Given the description of an element on the screen output the (x, y) to click on. 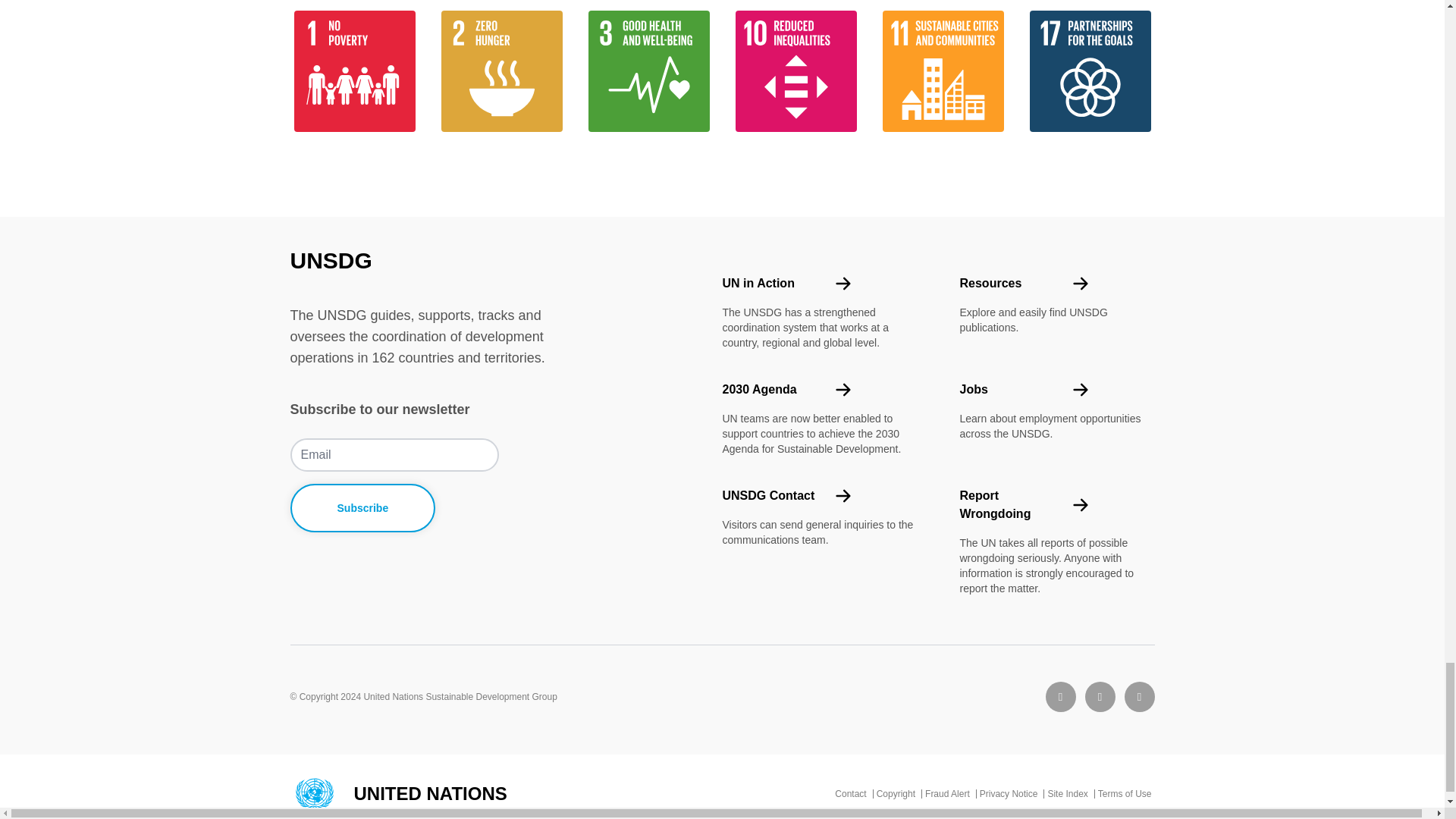
Subscribe (362, 508)
